Given the description of an element on the screen output the (x, y) to click on. 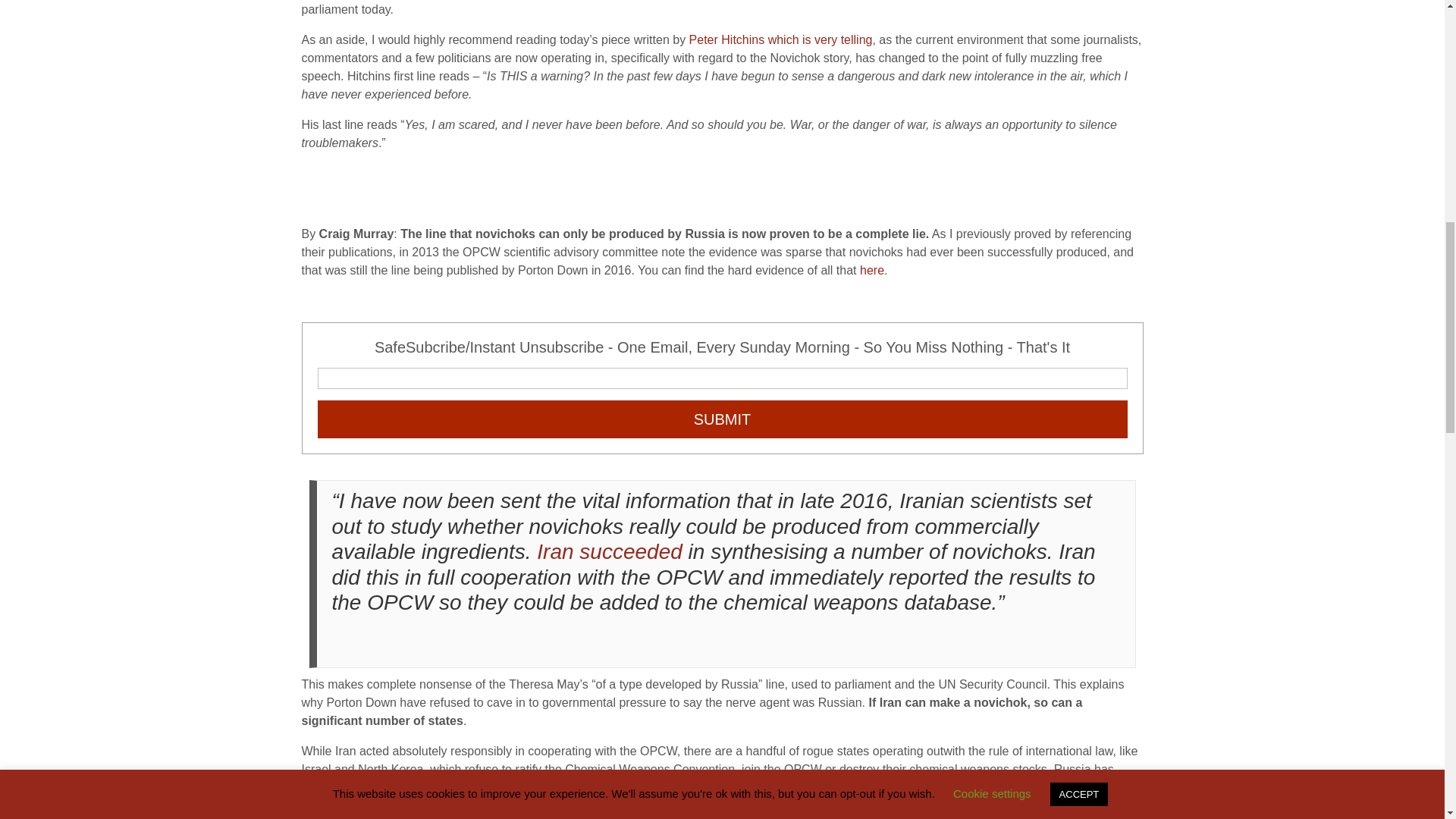
Peter Hitchins which is very telling (780, 39)
Iran succeeded (609, 551)
SUBMIT (721, 419)
here (871, 269)
